Given the description of an element on the screen output the (x, y) to click on. 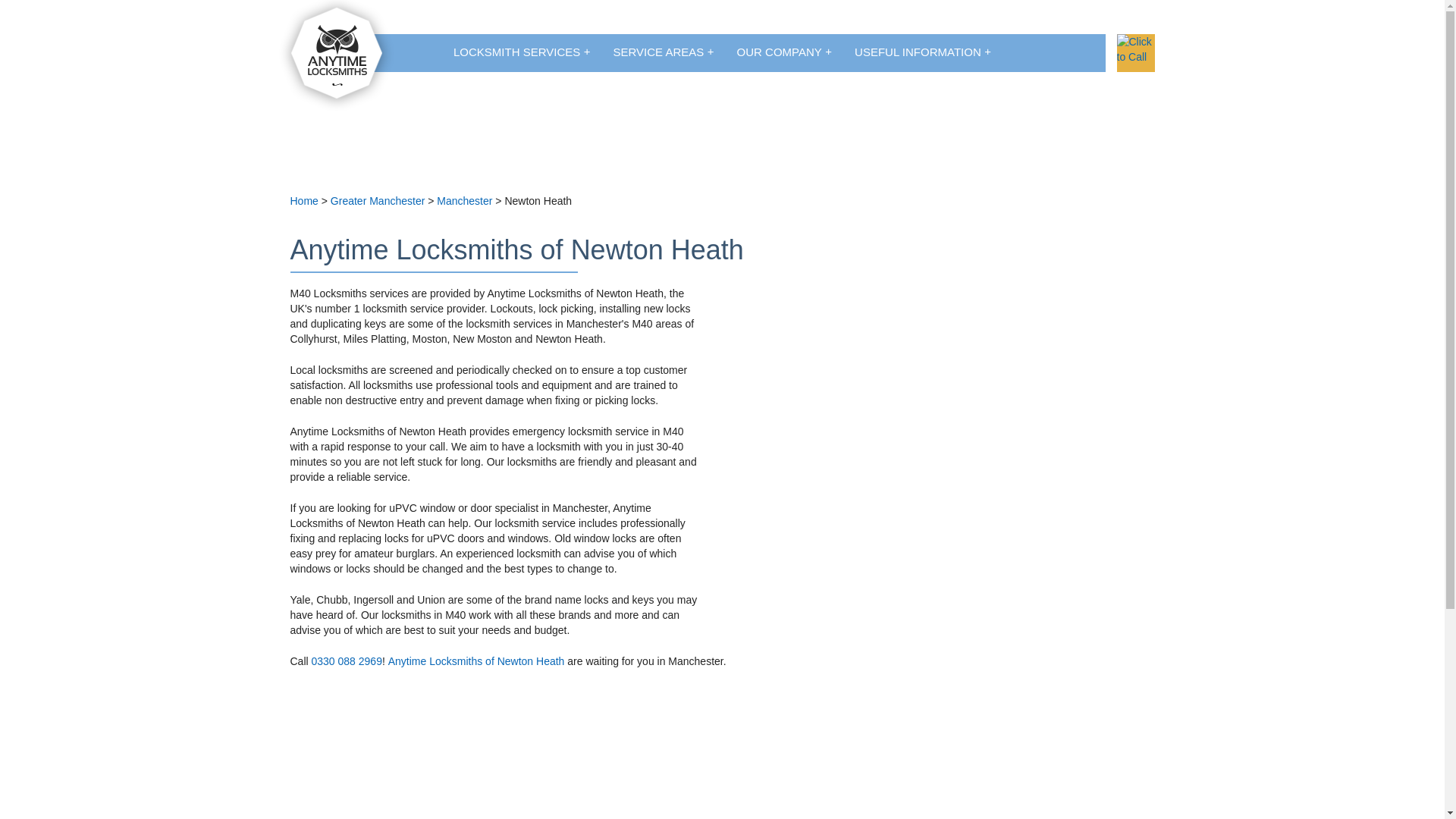
Click to Call (1135, 53)
0330 088 2969 (346, 661)
Manchester (464, 200)
Greater Manchester (377, 200)
Anytime Locksmiths (336, 55)
Home (303, 200)
Anytime Locksmiths of Newton Heath (476, 661)
